Given the description of an element on the screen output the (x, y) to click on. 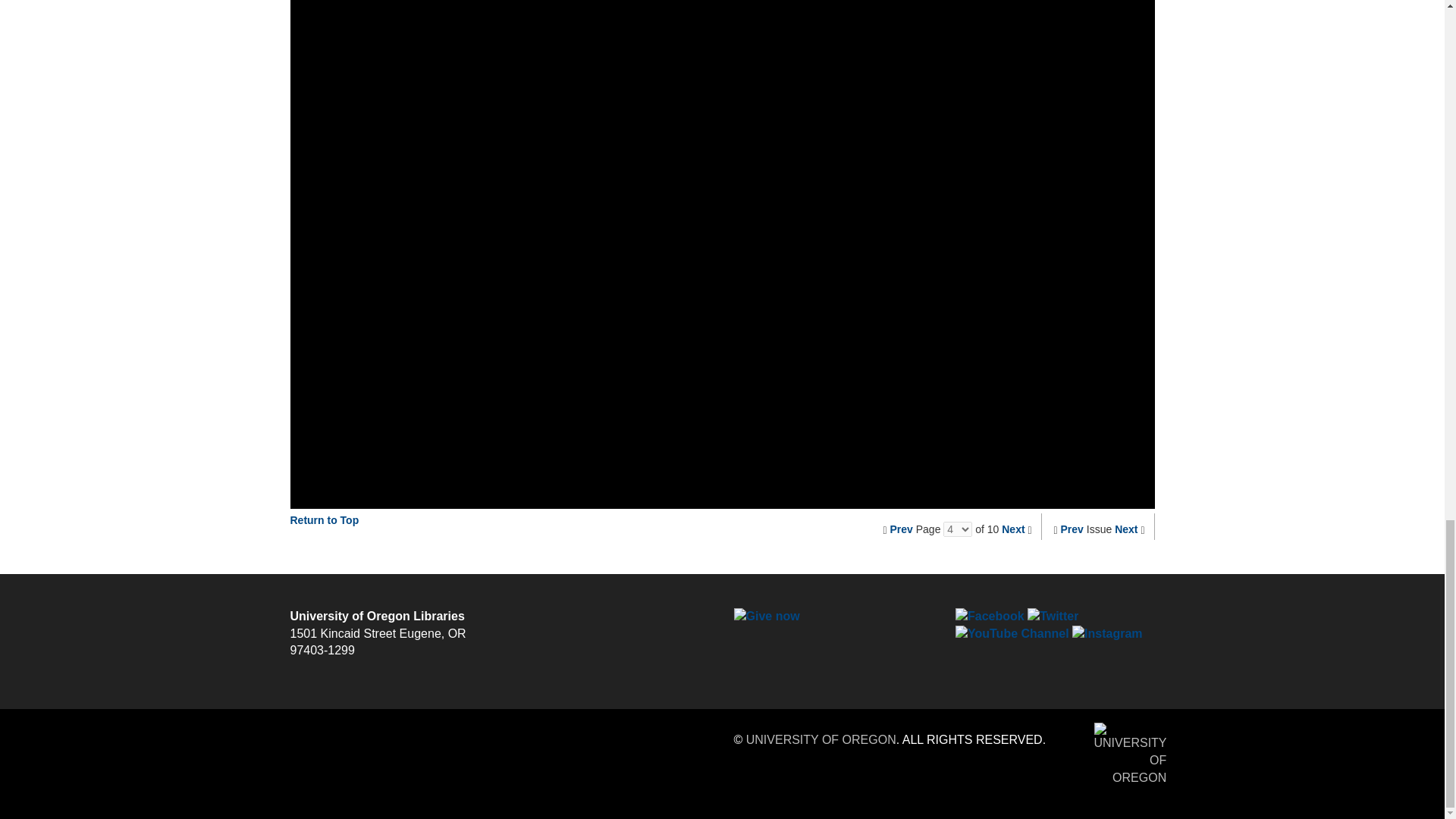
Next (1126, 529)
Prev (1072, 529)
Return to Top (323, 520)
Prev (900, 529)
Next (1013, 529)
